Given the description of an element on the screen output the (x, y) to click on. 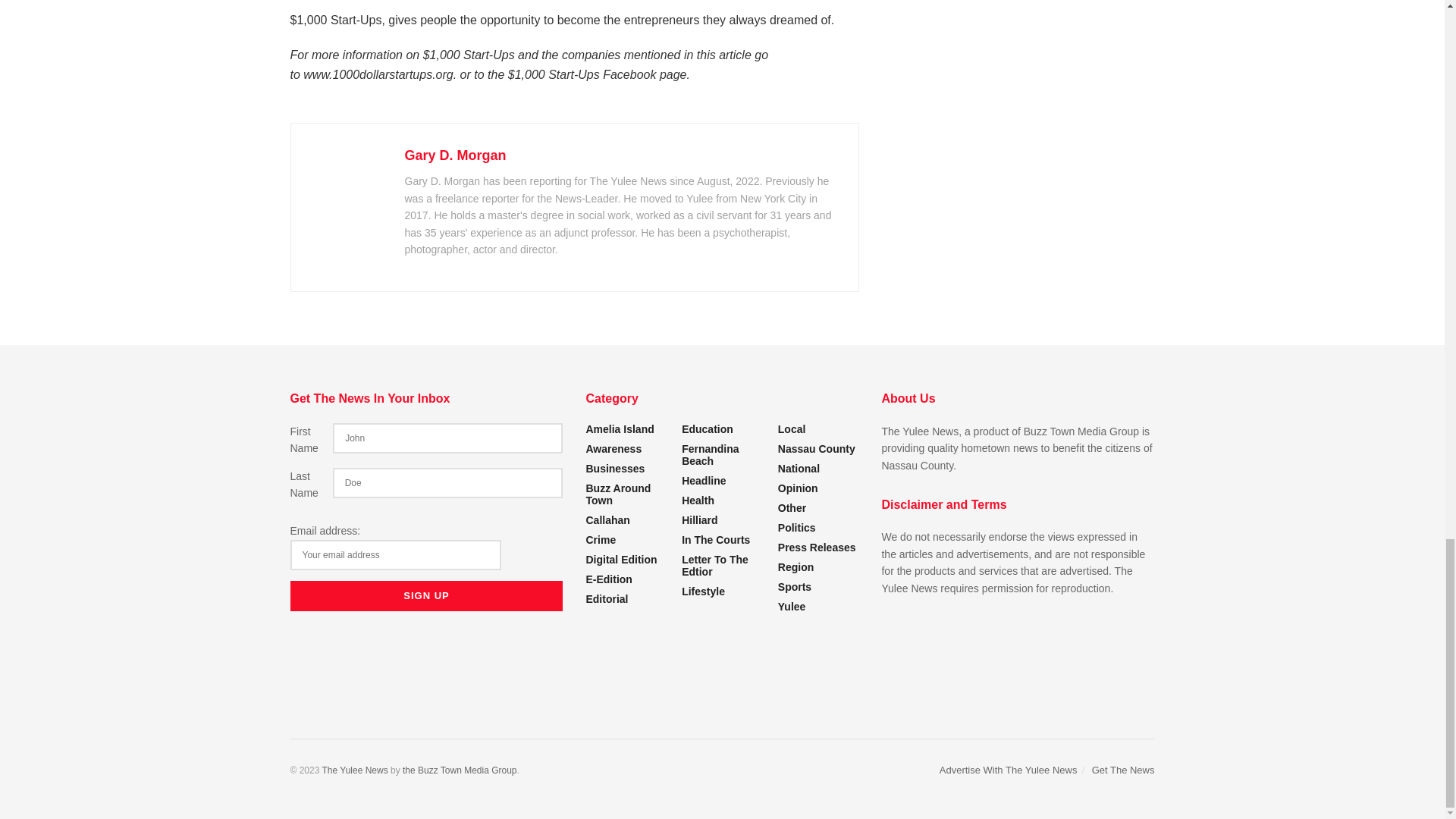
Sign up (425, 595)
Jegtheme (459, 769)
The Yulee News (354, 769)
